Given the description of an element on the screen output the (x, y) to click on. 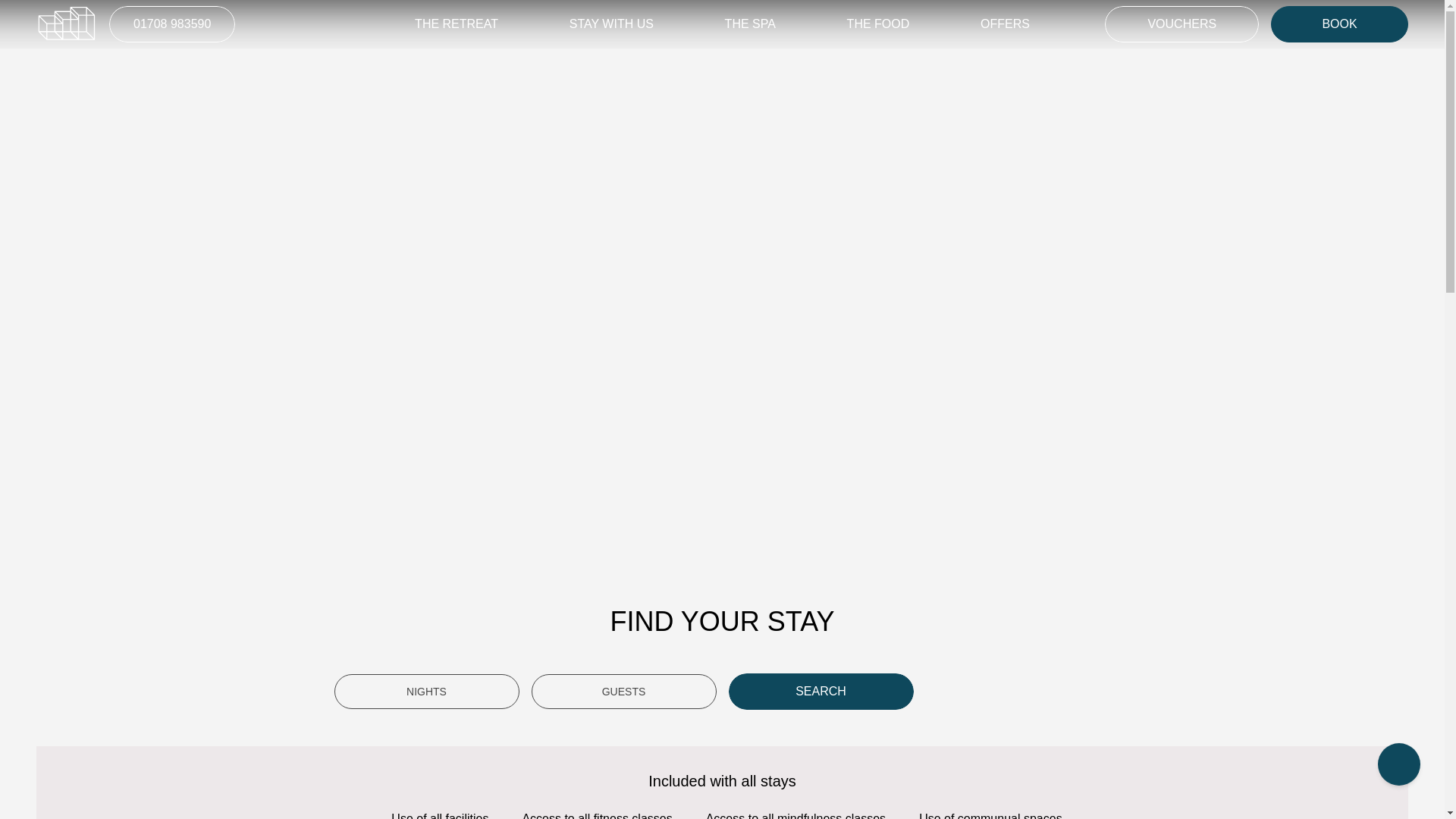
Buy Gift Vouchers (1182, 23)
Make a booking (1339, 23)
Scroll (1399, 765)
Call Now (171, 23)
THE RETREAT (457, 24)
Home Page (66, 22)
